Given the description of an element on the screen output the (x, y) to click on. 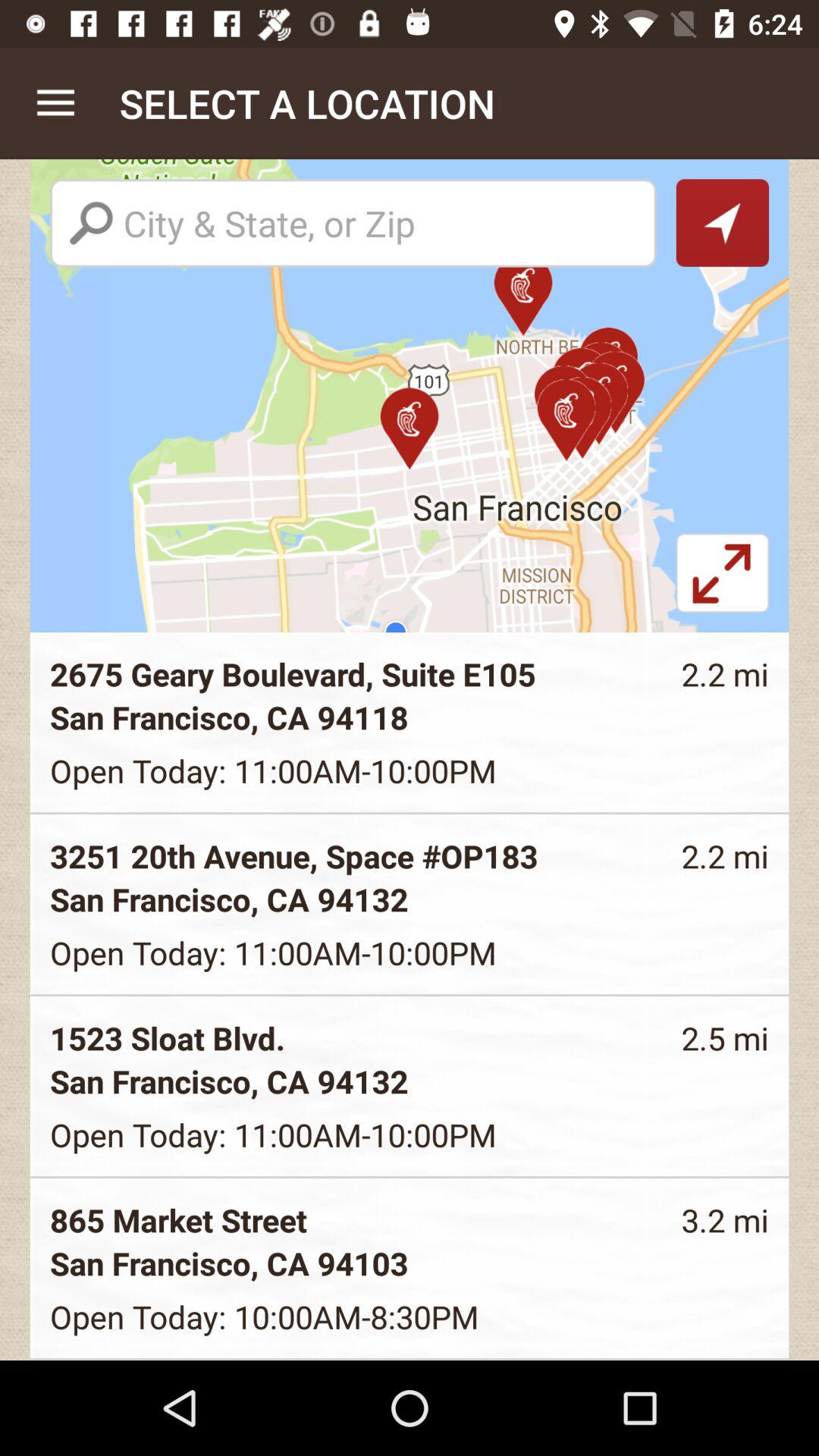
open the item above the 2675 geary boulevard (722, 582)
